Given the description of an element on the screen output the (x, y) to click on. 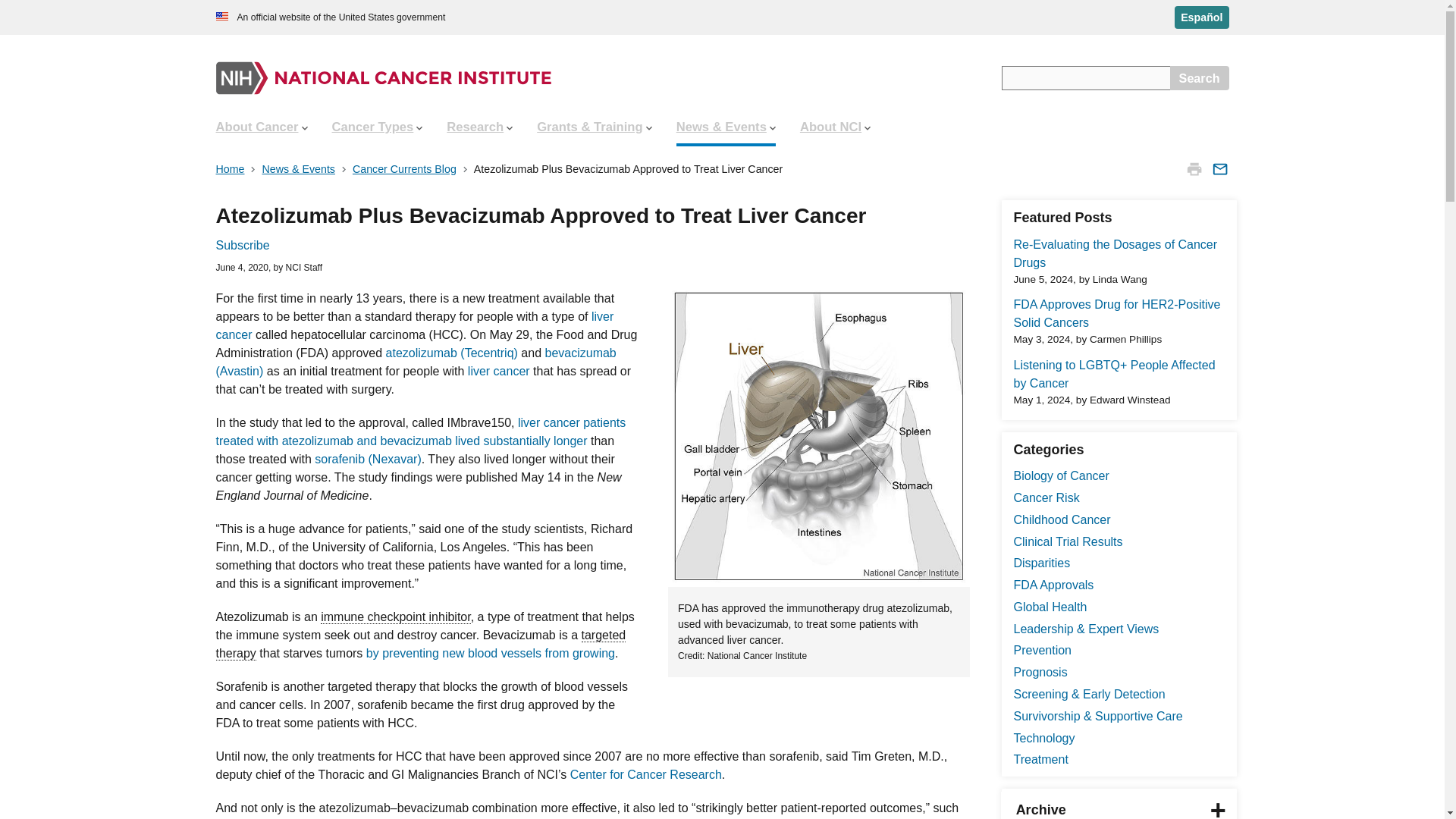
About NCI (834, 127)
liver cancer (413, 325)
Subscribe (242, 245)
by preventing new blood vessels from growing (490, 653)
Center for Cancer Research (646, 774)
immune checkpoint inhibitor (395, 617)
Search (1199, 78)
Cancer Types (377, 127)
About Cancer (260, 127)
